Given the description of an element on the screen output the (x, y) to click on. 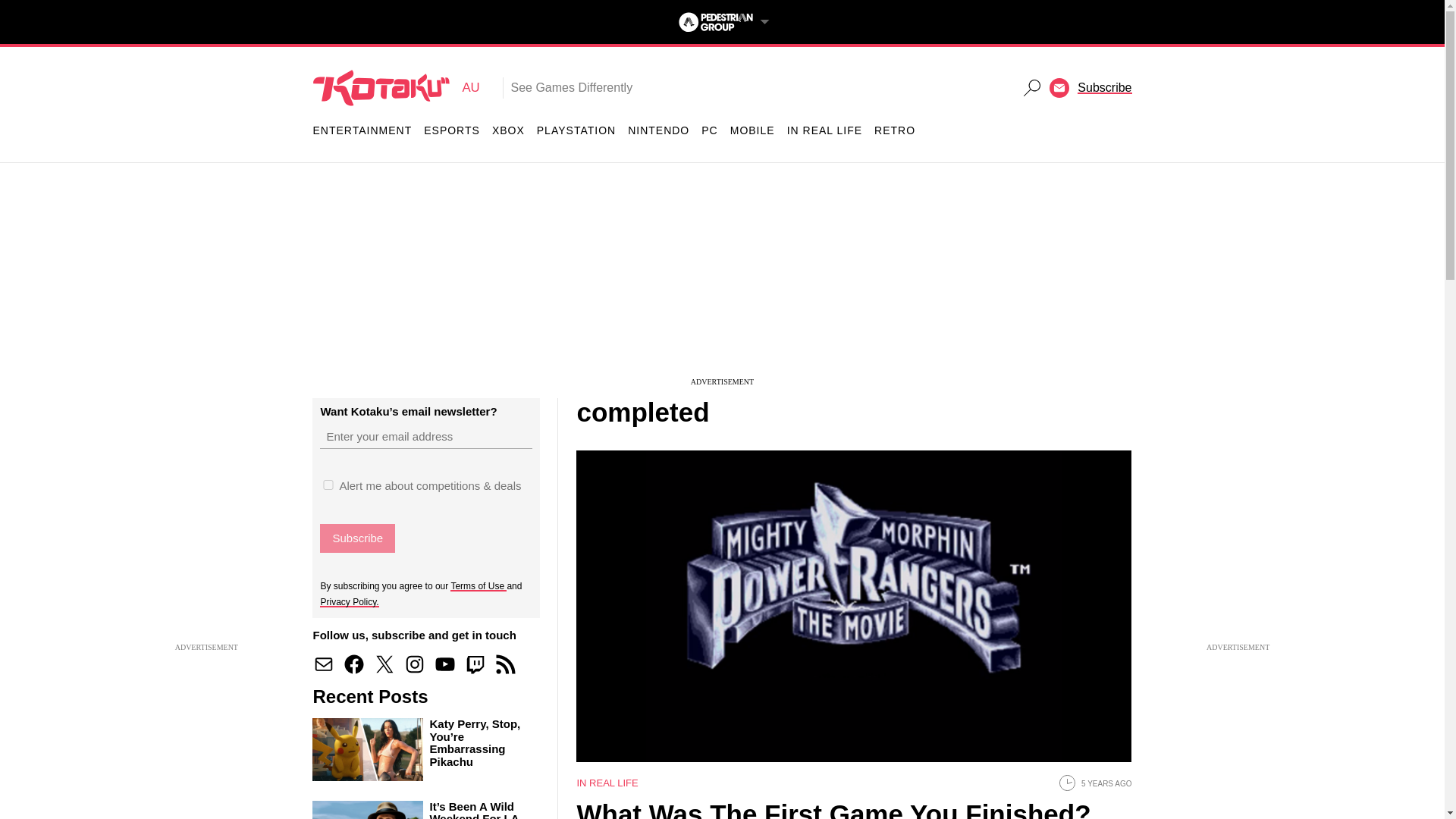
twitch (475, 663)
IN REAL LIFE (824, 130)
ESPORTS (451, 130)
feed (505, 663)
MOBILE (752, 130)
NINTENDO (657, 130)
Subscribe (357, 538)
PLAYSTATION (576, 130)
Subscribe (357, 538)
facebook (353, 663)
ENTERTAINMENT (396, 87)
XBOX (362, 130)
instagram (508, 130)
